Given the description of an element on the screen output the (x, y) to click on. 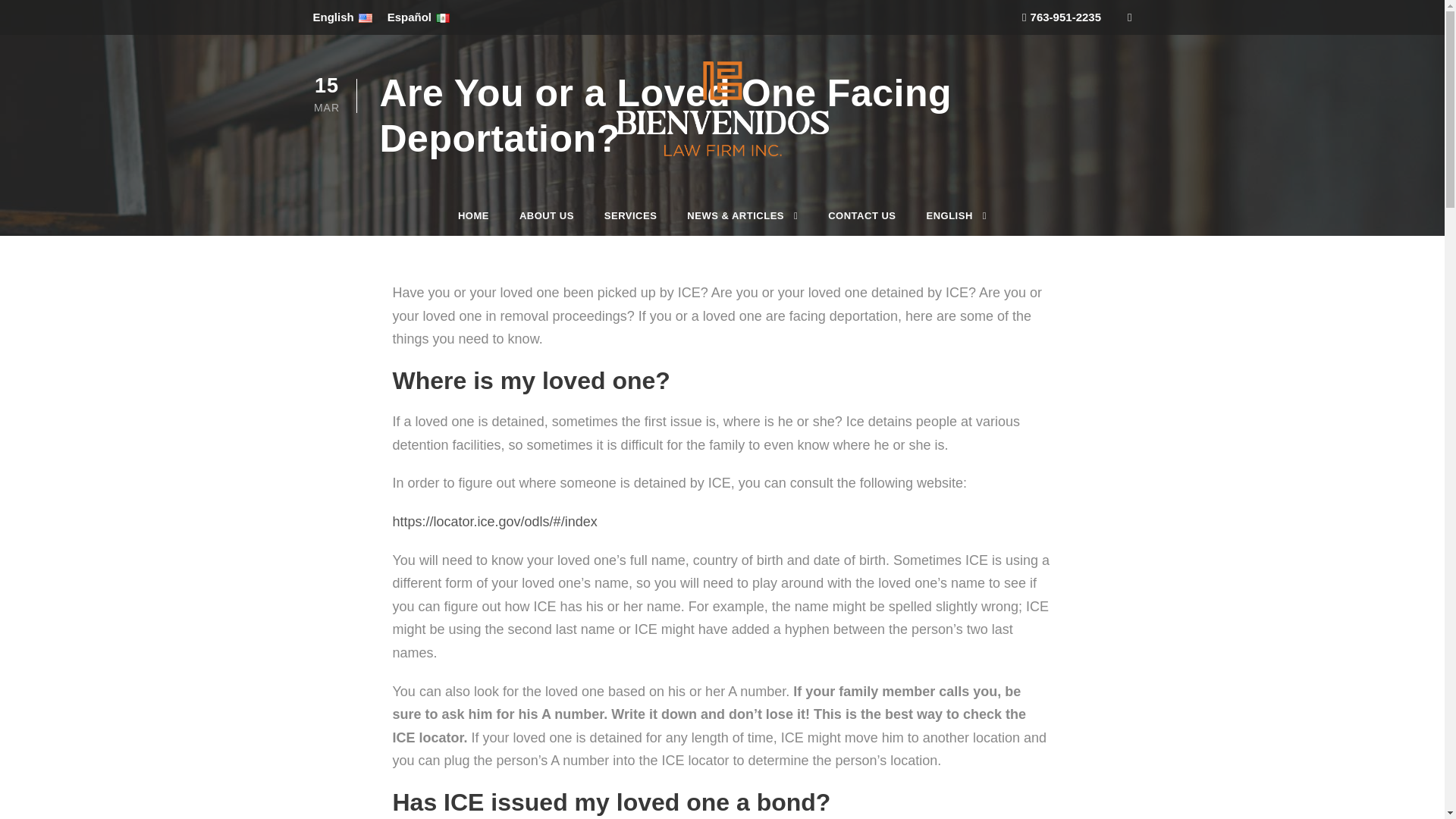
763-951-2235 (1061, 16)
CONTACT US (861, 225)
ABOUT US (546, 225)
bienvenidos law firm (721, 108)
HOME (473, 225)
SERVICES (631, 225)
ENGLISH (956, 225)
